Given the description of an element on the screen output the (x, y) to click on. 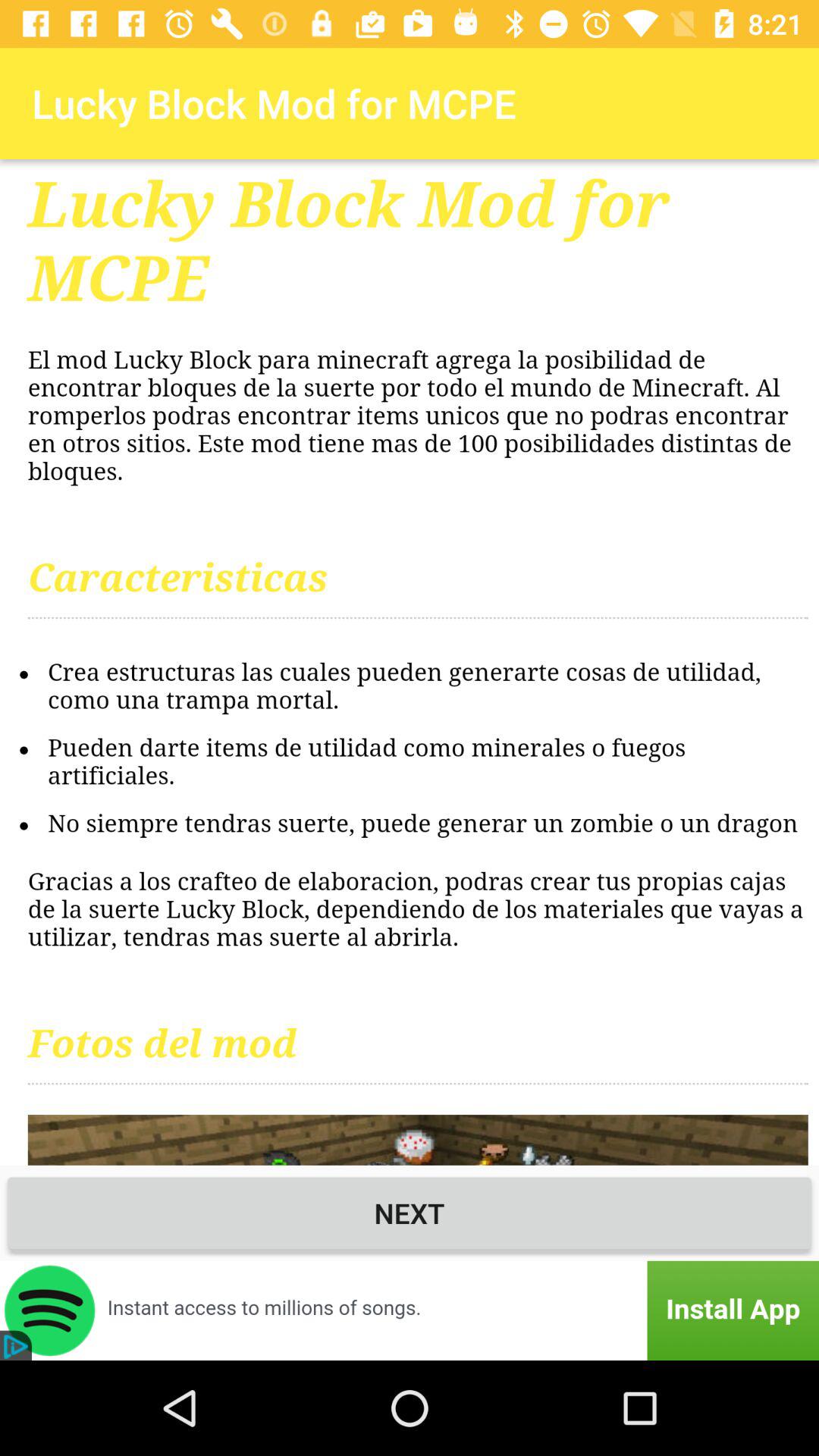
advertisement (409, 1310)
